Given the description of an element on the screen output the (x, y) to click on. 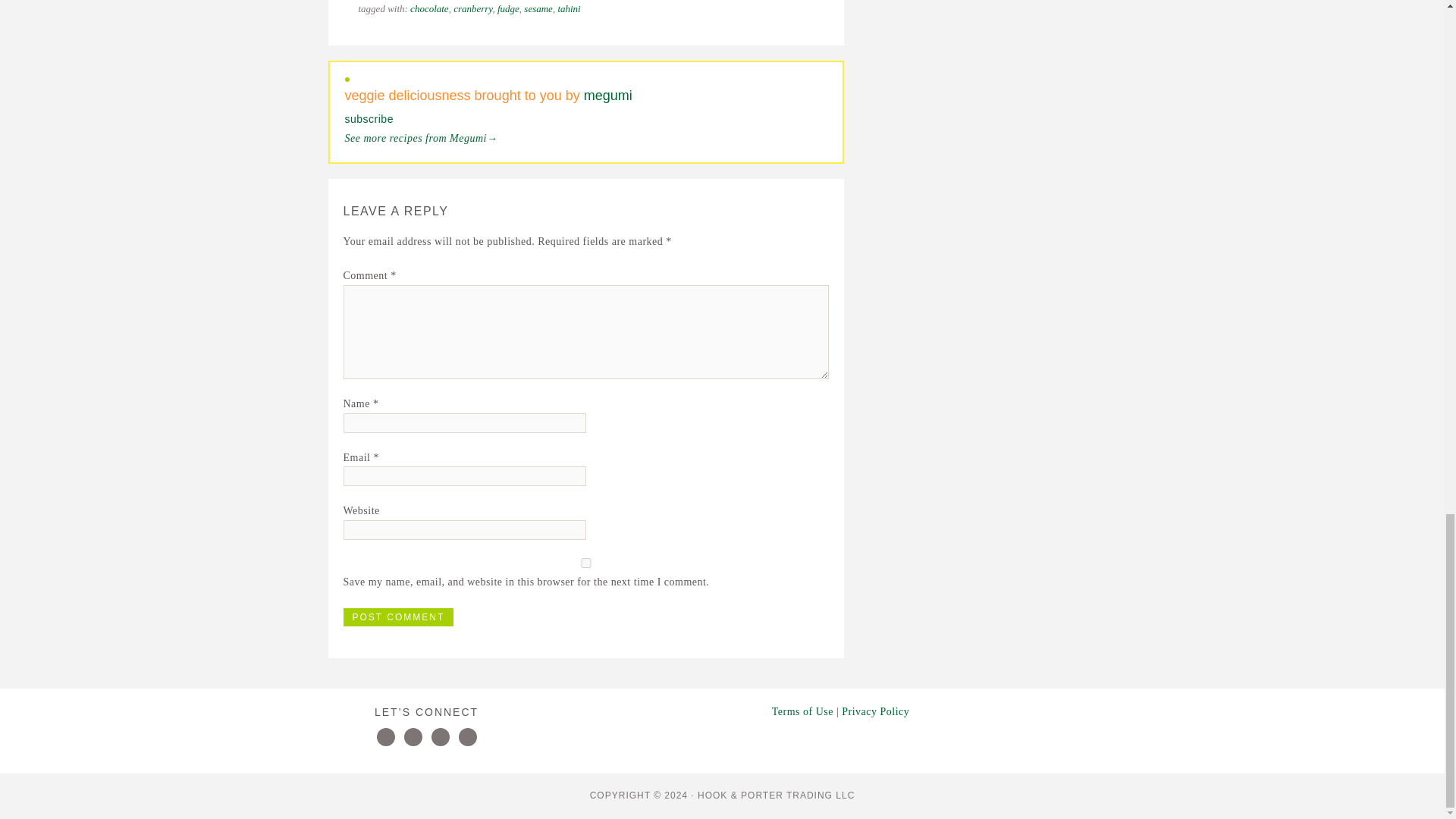
chocolate (429, 8)
Post Comment (397, 617)
yes (585, 562)
